Given the description of an element on the screen output the (x, y) to click on. 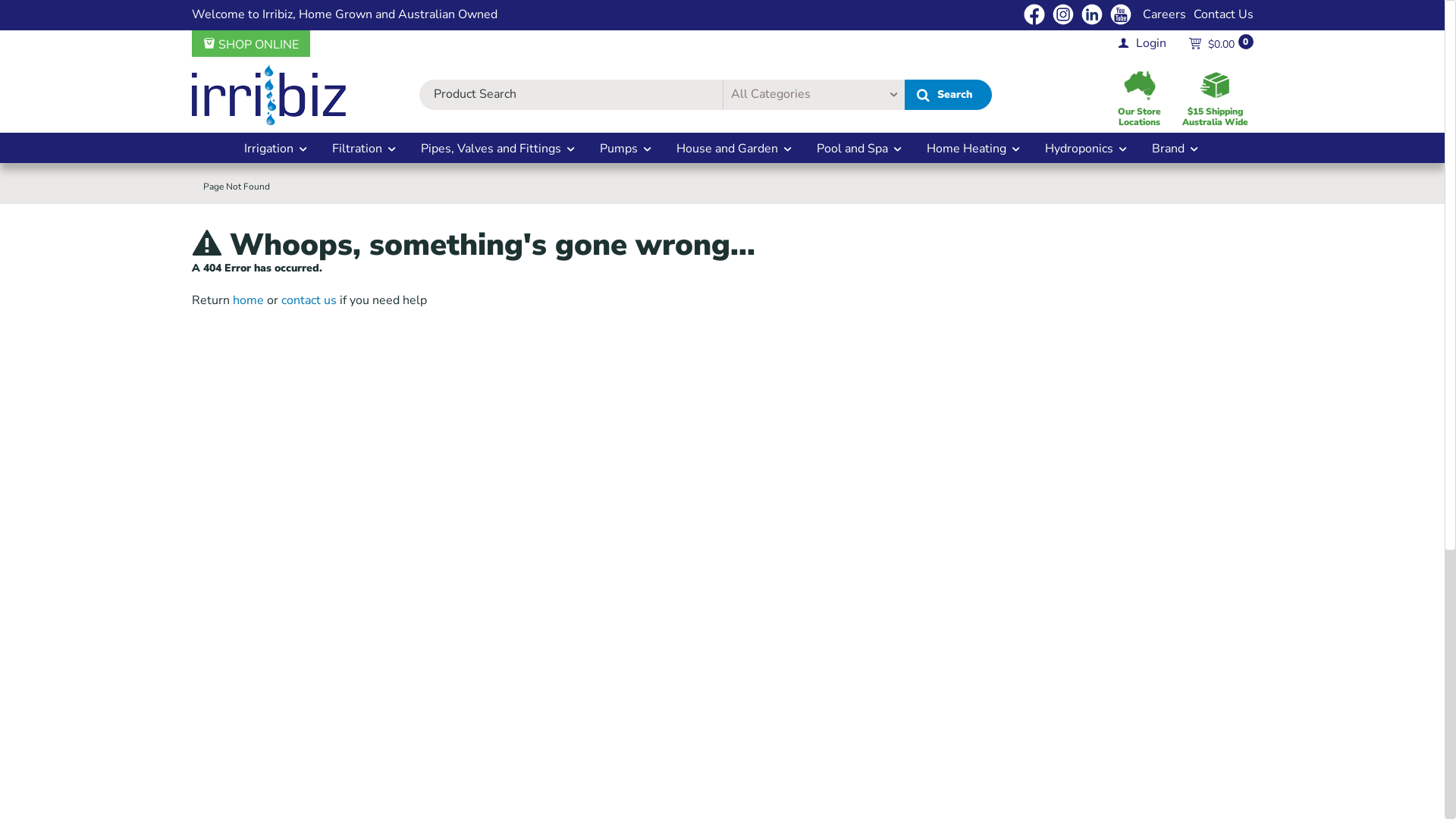
Search Element type: text (947, 94)
$0.00
0 Element type: text (1211, 44)
Pool and Spa Element type: text (860, 147)
Hydroponics Element type: text (1086, 147)
Irrigation Element type: text (276, 147)
Filtration Element type: text (364, 147)
Careers Element type: text (1163, 14)
Login Element type: text (1142, 43)
Contact Us Element type: text (1223, 14)
Pipes, Valves and Fittings Element type: text (498, 147)
Home Heating Element type: text (974, 147)
Pumps Element type: text (626, 147)
Brand Element type: text (1175, 147)
House and Garden Element type: text (735, 147)
SHOP ONLINE Element type: text (250, 44)
Our Store Locations Element type: text (1139, 96)
$15 Shipping Australia Wide Element type: text (1215, 96)
contact us Element type: text (307, 299)
home Element type: text (247, 299)
